Given the description of an element on the screen output the (x, y) to click on. 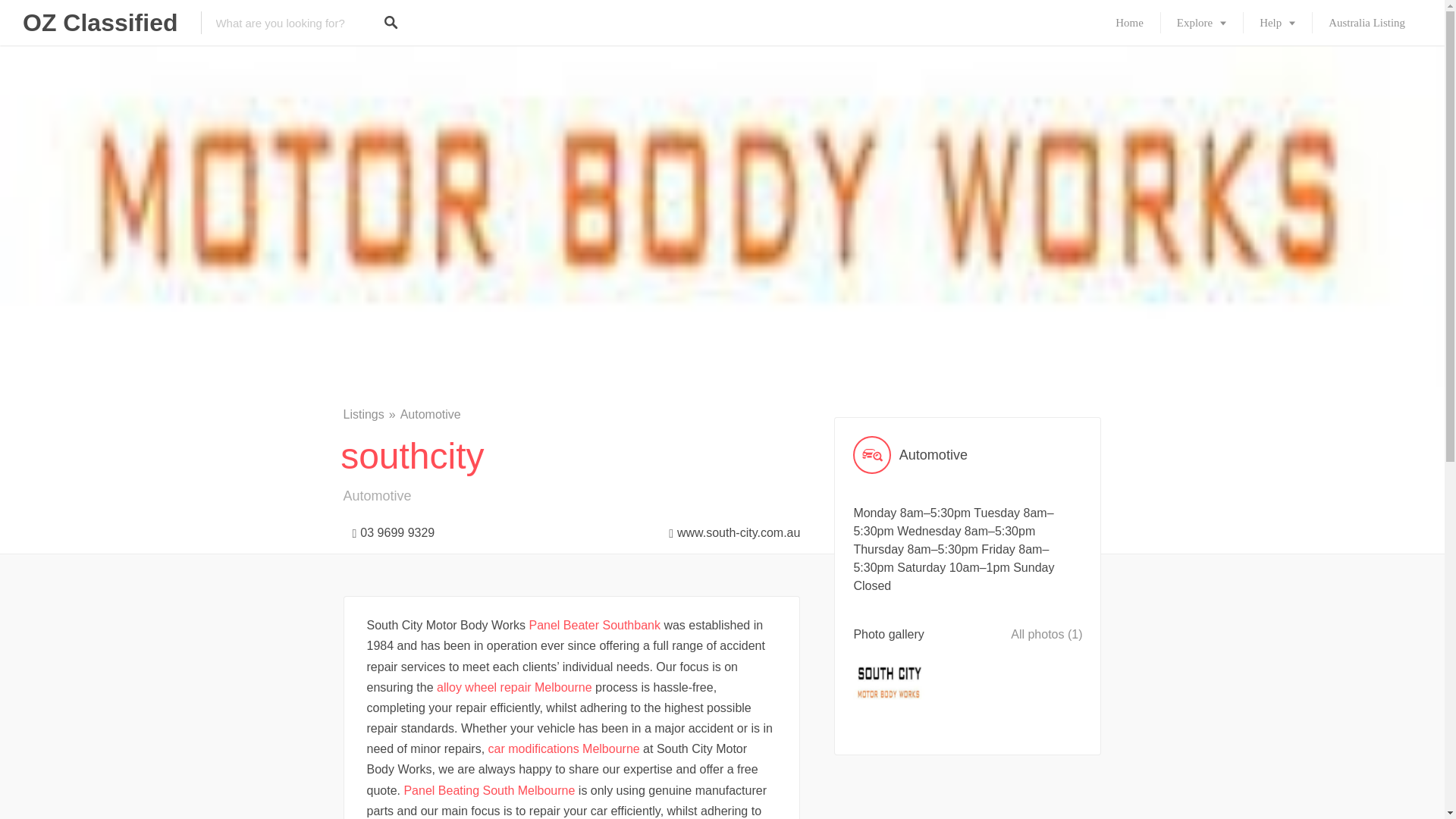
Help (1277, 22)
Panel Beater Southbank (595, 625)
03 9699 9329 (387, 529)
car modifications Melbourne (563, 748)
www.south-city.com.au (729, 529)
Home (1129, 22)
Listings (370, 414)
Australia Listing (1366, 22)
Automotive (967, 454)
alloy wheel repair Melbourne (514, 686)
